Given the description of an element on the screen output the (x, y) to click on. 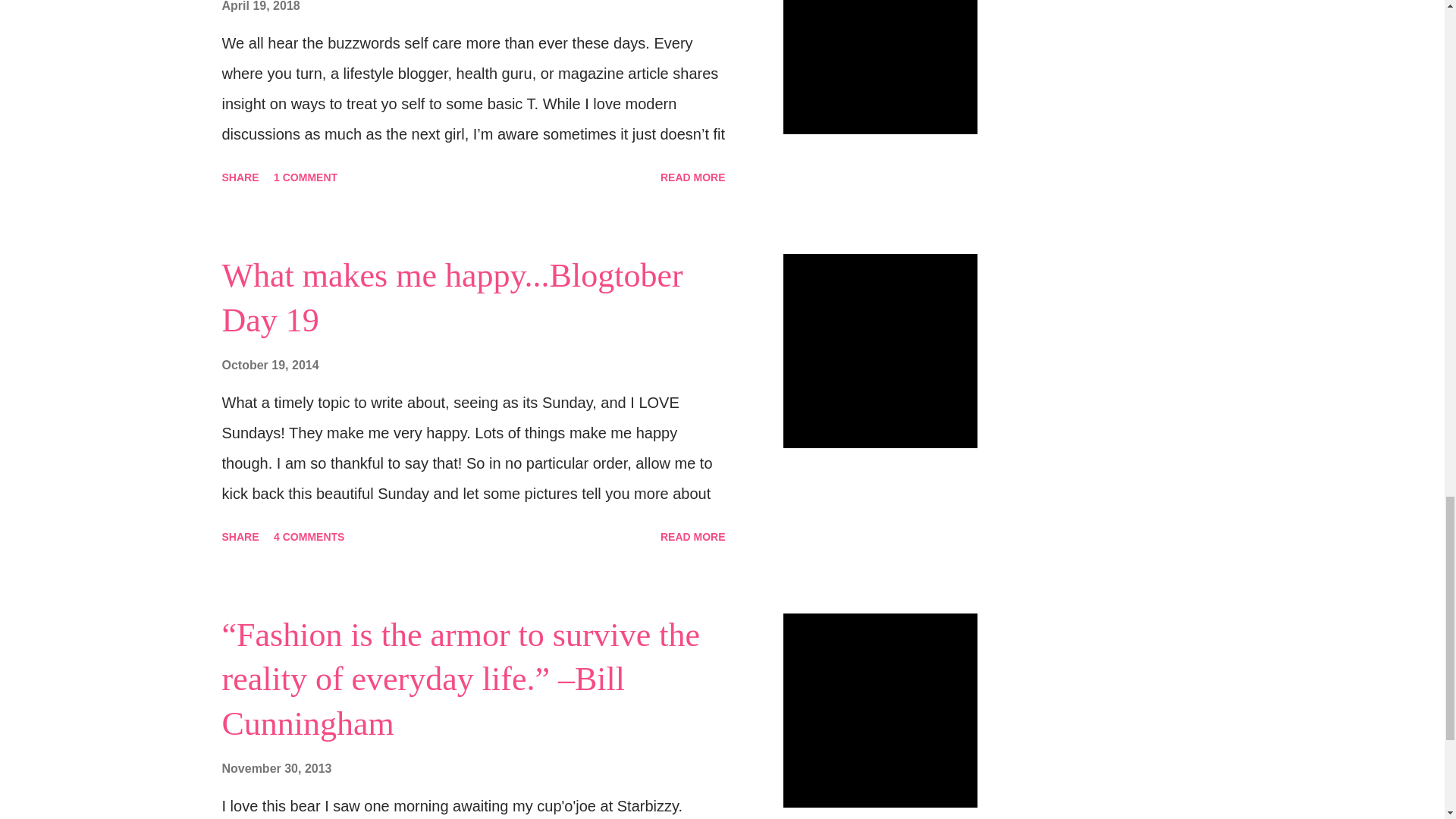
What makes me happy...Blogtober Day 19 (451, 298)
1 COMMENT (305, 177)
SHARE (239, 536)
permanent link (260, 6)
READ MORE (692, 536)
READ MORE (692, 177)
SHARE (239, 177)
October 19, 2014 (269, 364)
April 19, 2018 (260, 6)
4 COMMENTS (308, 536)
